Given the description of an element on the screen output the (x, y) to click on. 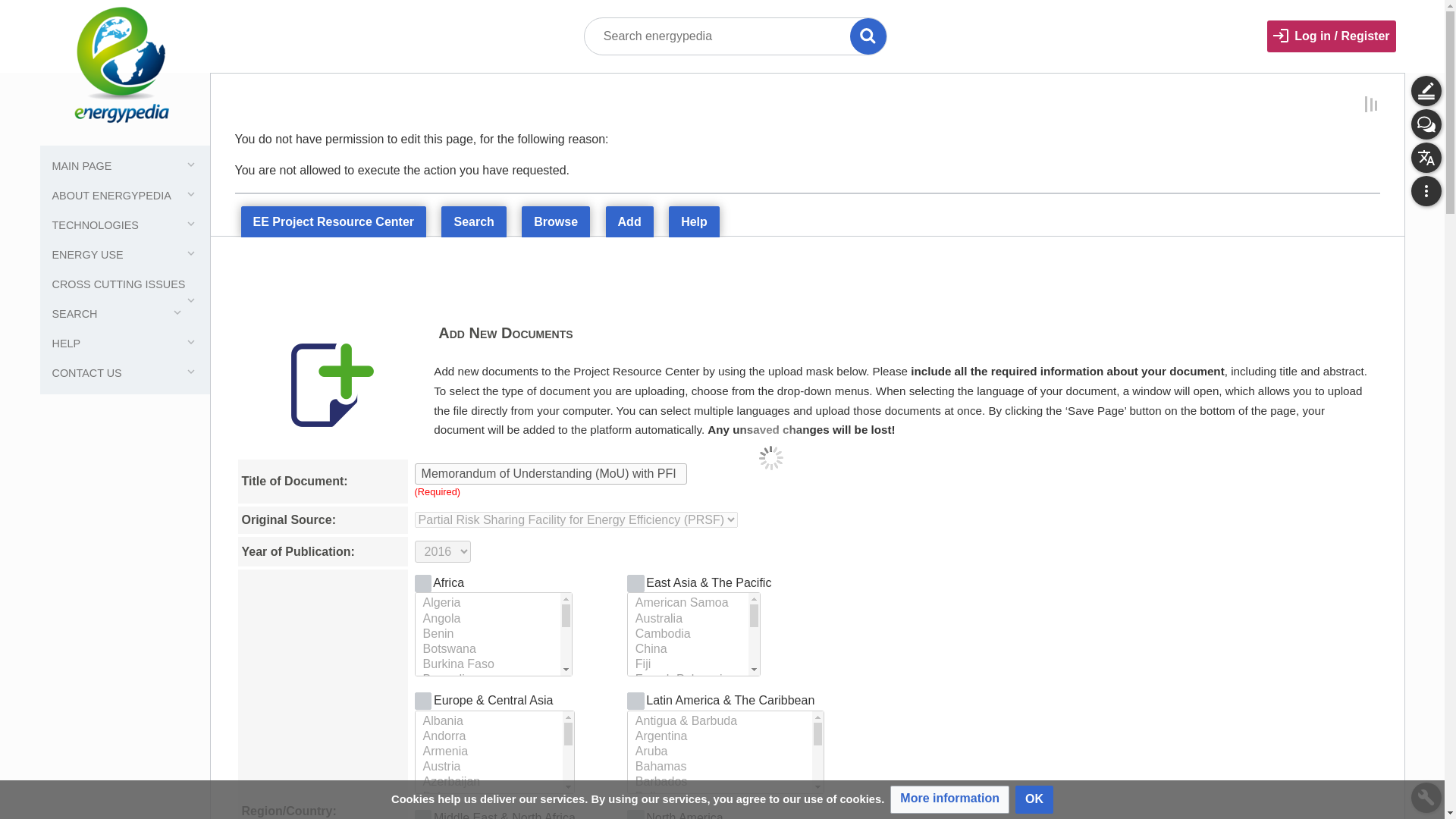
Energy Efficiency Project Resource Center (333, 223)
Energy Efficiency Project Resource Center Document List (555, 222)
Search (473, 223)
OK (1033, 799)
Browse (555, 222)
Title (868, 36)
Title (868, 36)
EE Project Resource Center (333, 223)
Full text (18, 18)
Add (629, 222)
Go to a page with this exact name if it exists (868, 36)
Renewable Energy Project Resource Center Help and FAQs (693, 221)
Help (693, 221)
More information (949, 799)
Title (868, 36)
